Given the description of an element on the screen output the (x, y) to click on. 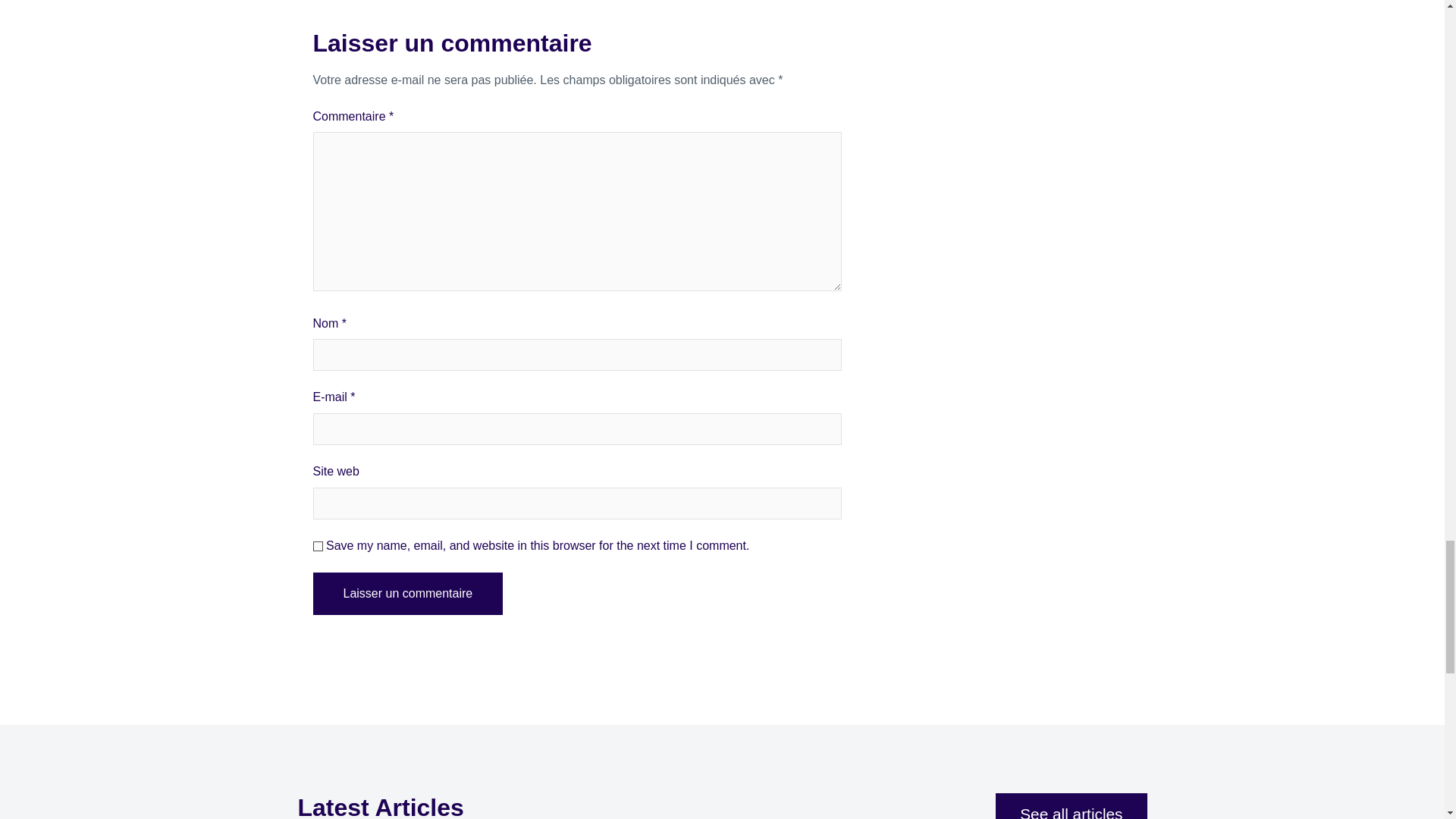
See all articles (1071, 806)
Laisser un commentaire (407, 593)
Laisser un commentaire (407, 593)
